Given the description of an element on the screen output the (x, y) to click on. 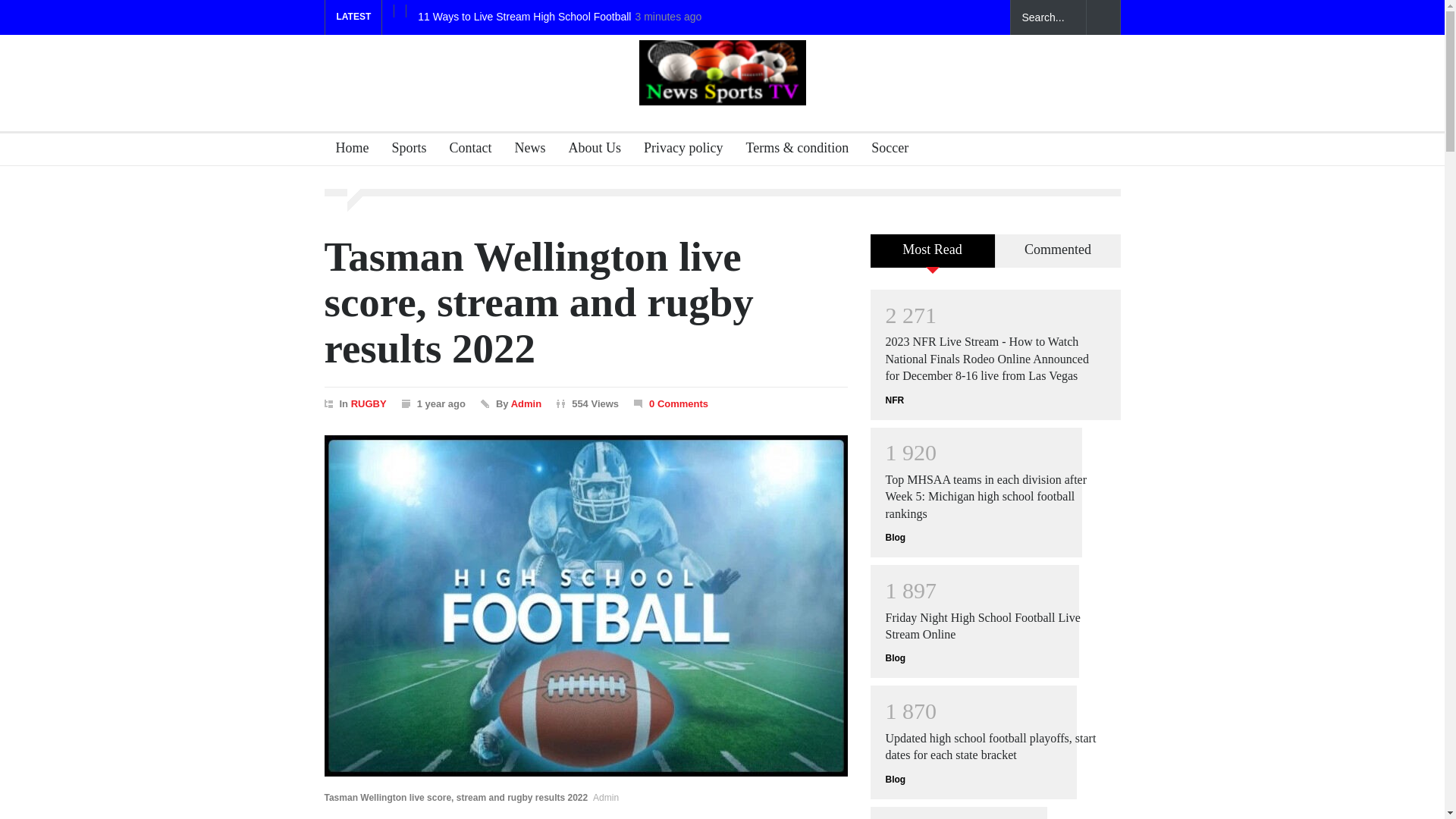
News (524, 149)
Search... (1048, 17)
Soccer (884, 149)
3 minutes ago (667, 16)
Contact (465, 149)
Home (346, 149)
facebook (907, 16)
Home (346, 149)
twitter (932, 16)
11 Ways to Live Stream High School Football (523, 16)
mail (960, 16)
Privacy policy (676, 149)
Sports (403, 149)
High school football logo (722, 72)
0 Comments (678, 403)
